Given the description of an element on the screen output the (x, y) to click on. 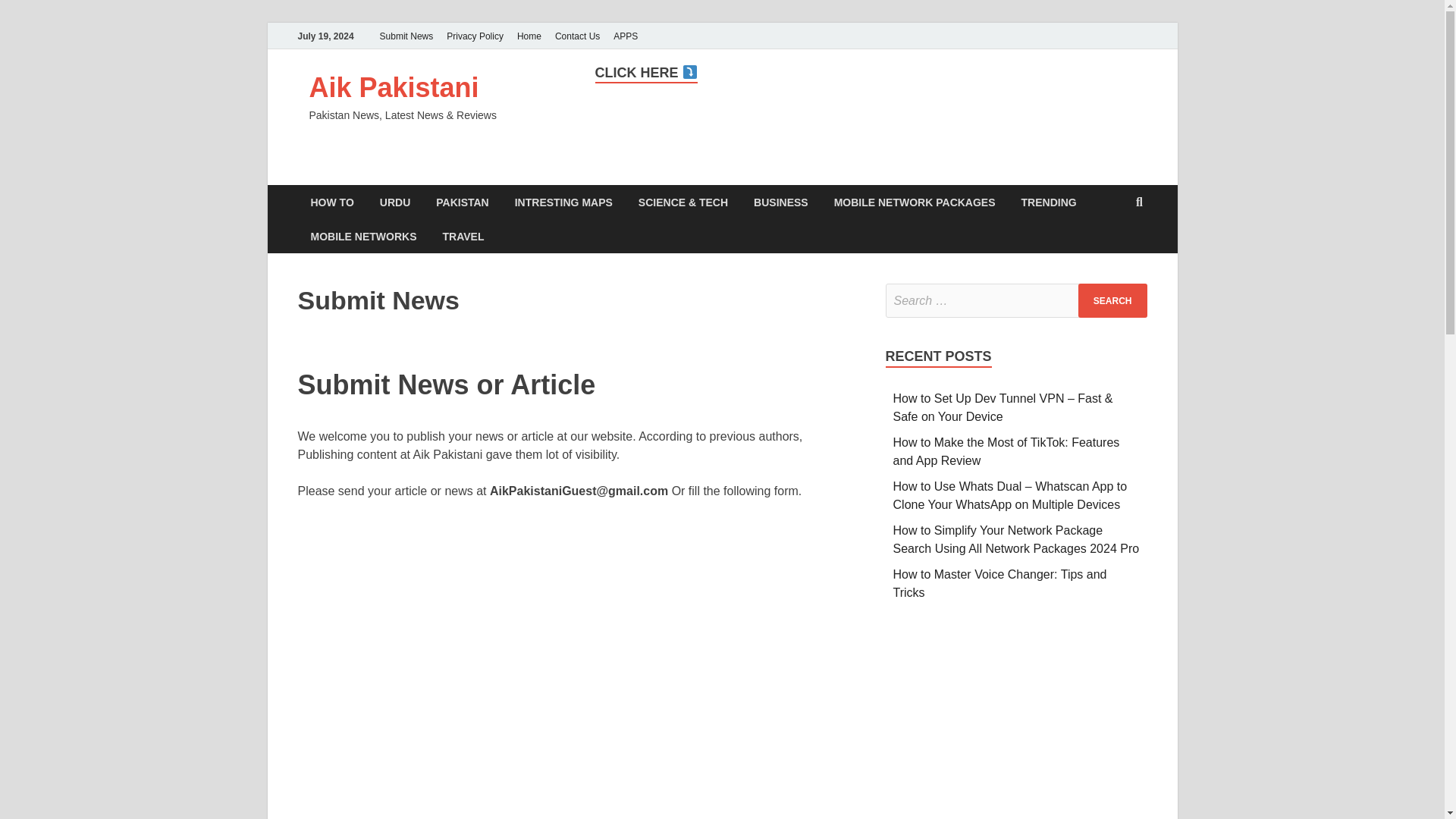
MOBILE NETWORKS (363, 236)
Home (529, 35)
Search (1112, 300)
INTRESTING MAPS (564, 202)
MOBILE NETWORK PACKAGES (915, 202)
Search (1112, 300)
TRAVEL (462, 236)
Search (1112, 300)
HOW TO (331, 202)
Contact Us (577, 35)
TRENDING (1049, 202)
PAKISTAN (461, 202)
URDU (394, 202)
APPS (626, 35)
Submit News (406, 35)
